Given the description of an element on the screen output the (x, y) to click on. 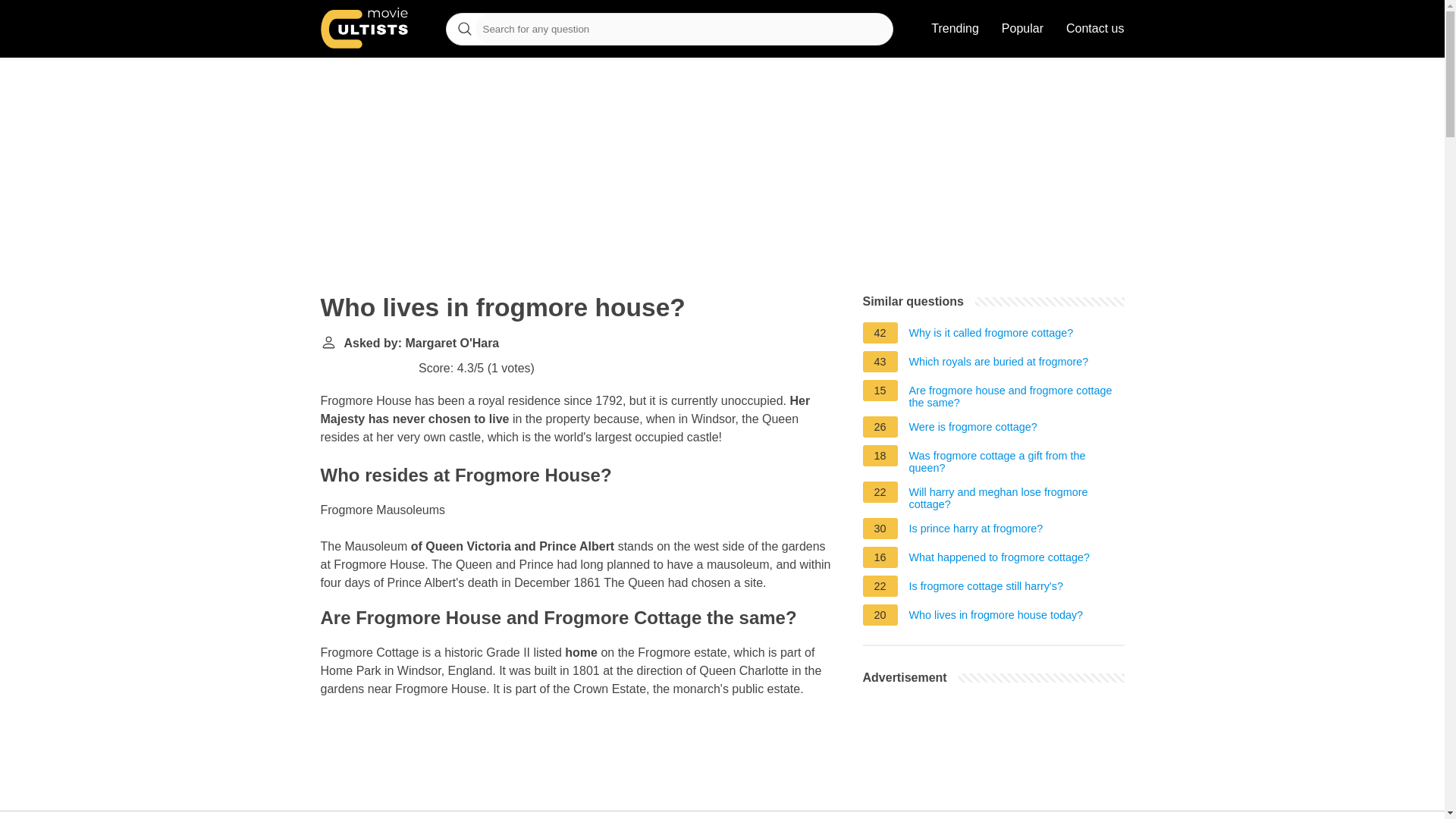
Why is it called frogmore cottage? (991, 334)
What happened to frogmore cottage? (998, 559)
Was frogmore cottage a gift from the queen? (1016, 461)
Will harry and meghan lose frogmore cottage? (1016, 498)
Contact us (1094, 28)
Is frogmore cottage still harry's? (986, 588)
Were is frogmore cottage? (972, 428)
Are frogmore house and frogmore cottage the same? (1016, 396)
Which royals are buried at frogmore? (998, 363)
Is prince harry at frogmore? (975, 530)
Popular (1022, 28)
Trending (954, 28)
Who lives in frogmore house today? (995, 617)
